Given the description of an element on the screen output the (x, y) to click on. 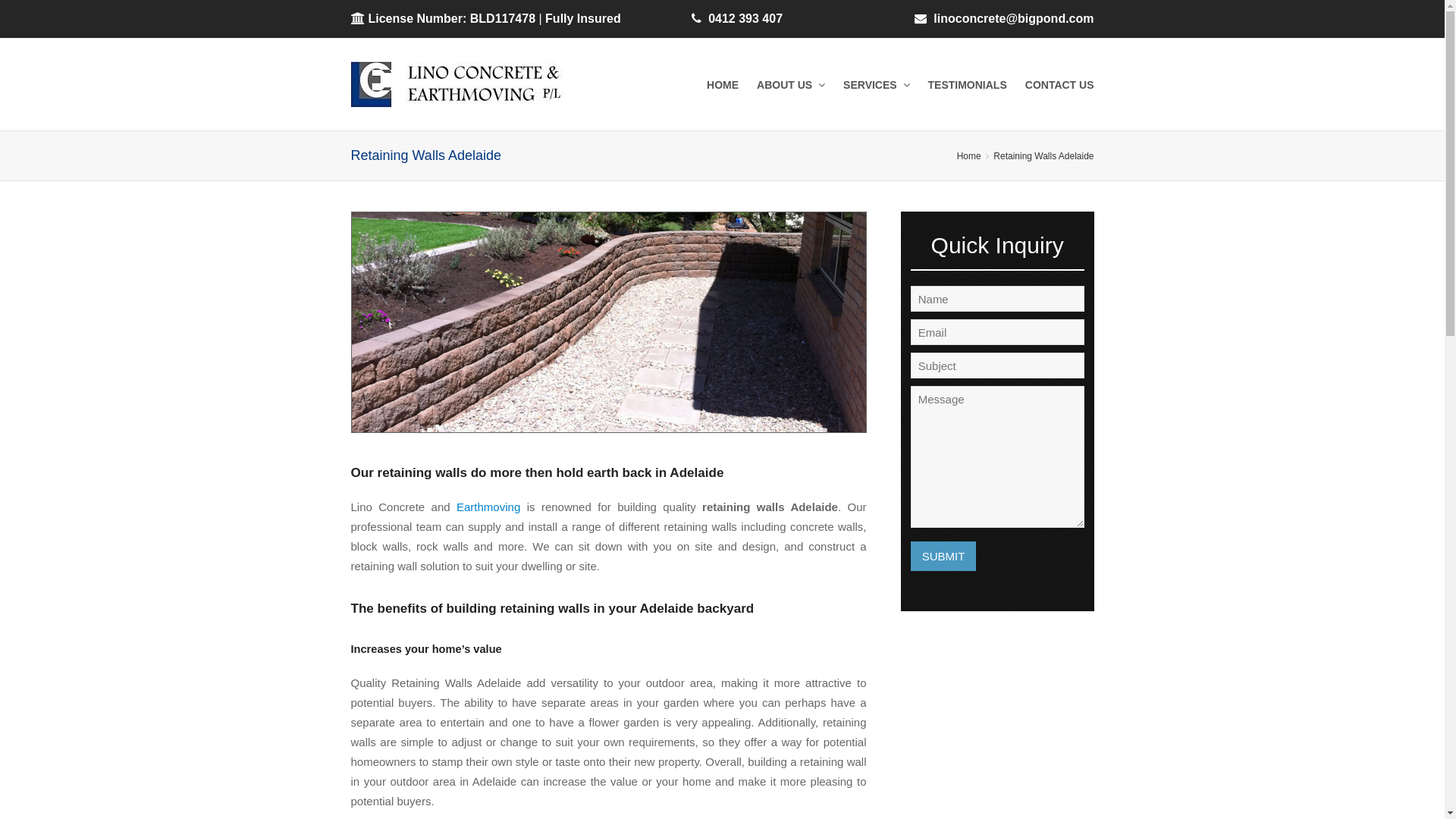
Lino Concrete Adelaide Element type: hover (470, 84)
TESTIMONIALS Element type: text (967, 84)
CONTACT US Element type: text (1059, 84)
linoconcrete@bigpond.com Element type: text (1013, 18)
Retaining Walls Adelaide Element type: text (1043, 155)
Home Element type: text (969, 155)
SUBMIT Element type: text (943, 556)
0412 393 407 Element type: text (745, 18)
ABOUT US Element type: text (790, 84)
Earthmoving Element type: text (488, 506)
SERVICES Element type: text (876, 84)
HOME Element type: text (722, 84)
